Given the description of an element on the screen output the (x, y) to click on. 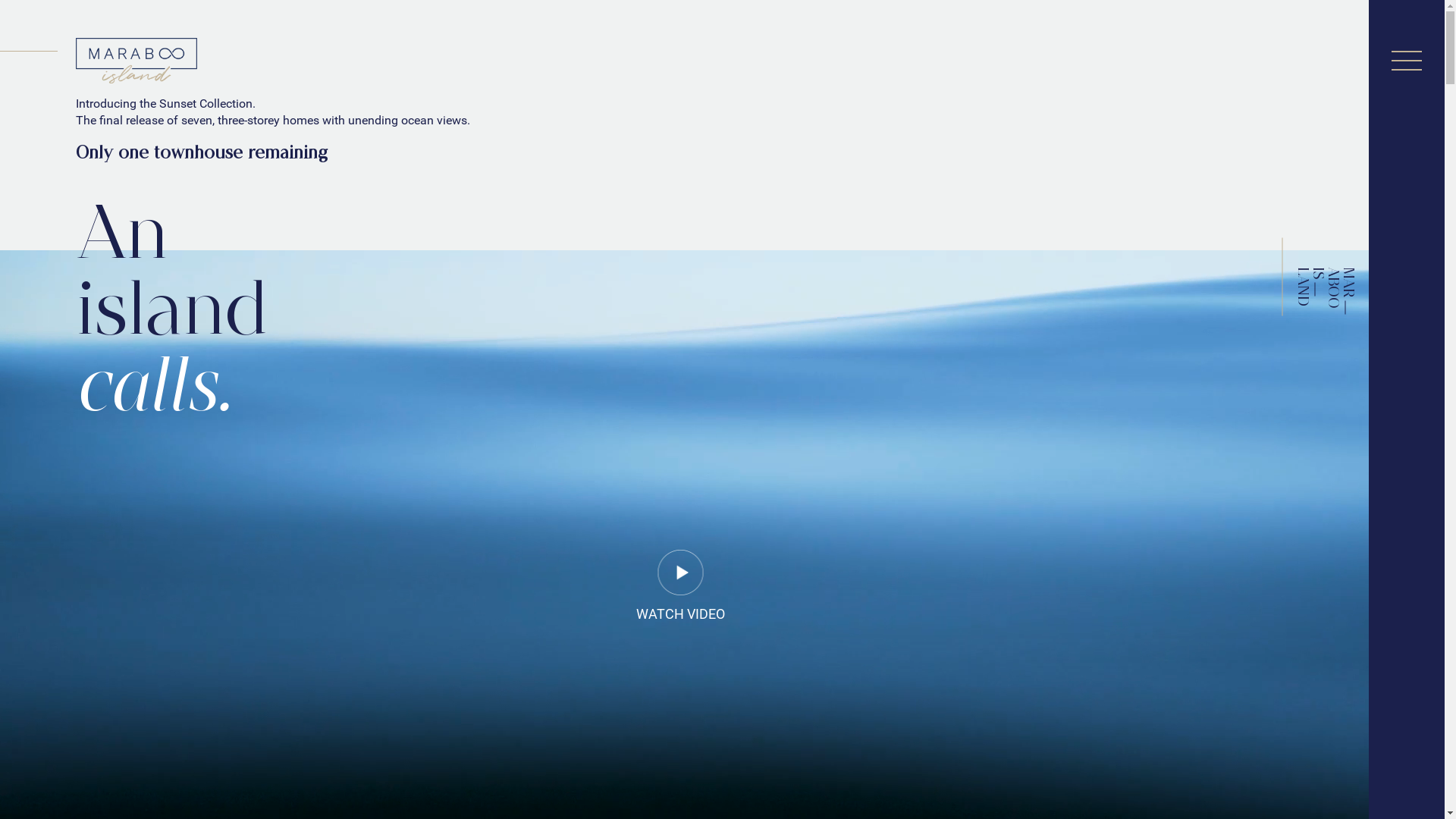
WATCH VIDEO Element type: text (680, 599)
